Given the description of an element on the screen output the (x, y) to click on. 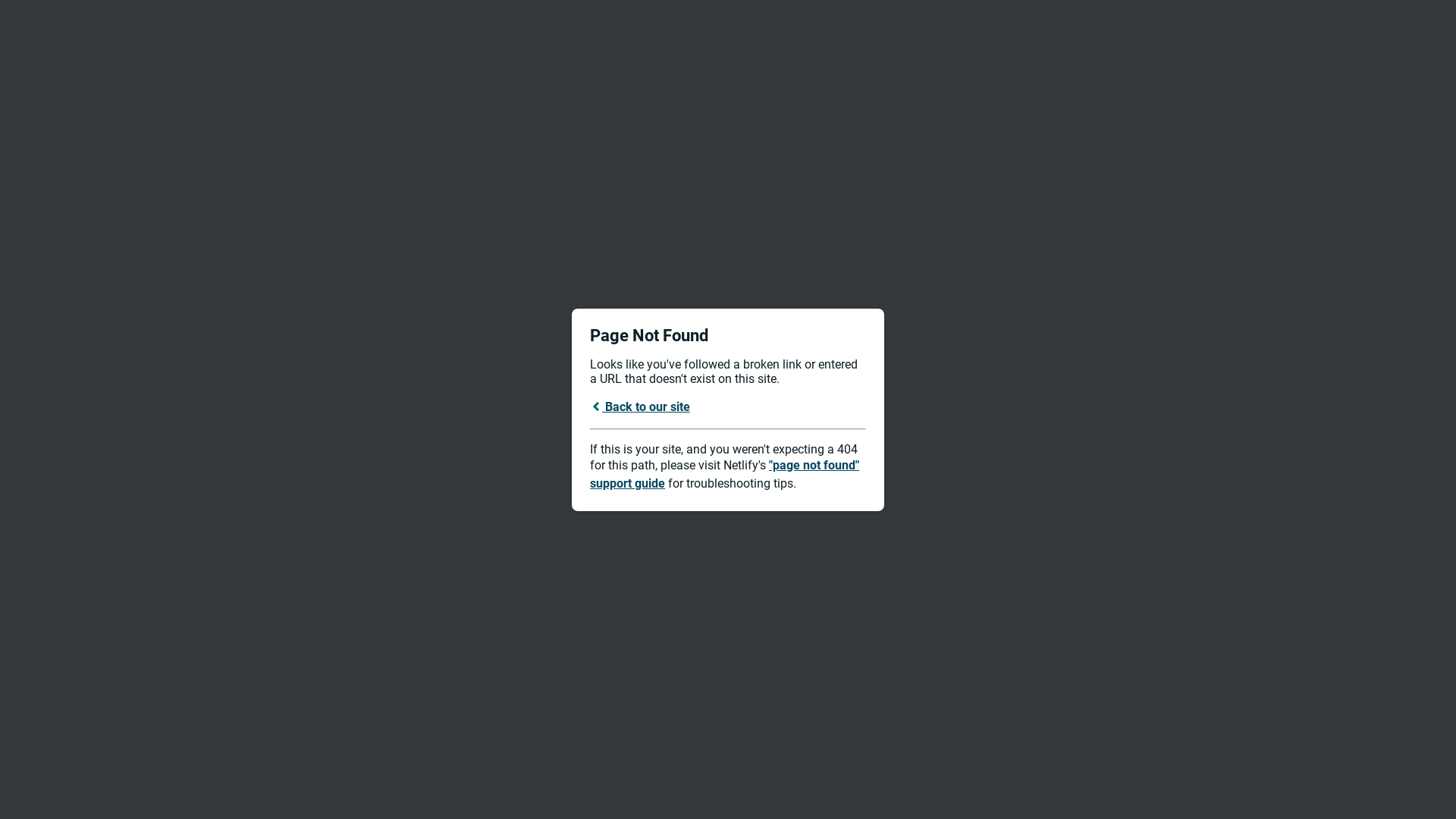
Back to our site Element type: text (639, 405)
"page not found" support guide Element type: text (724, 474)
